Given the description of an element on the screen output the (x, y) to click on. 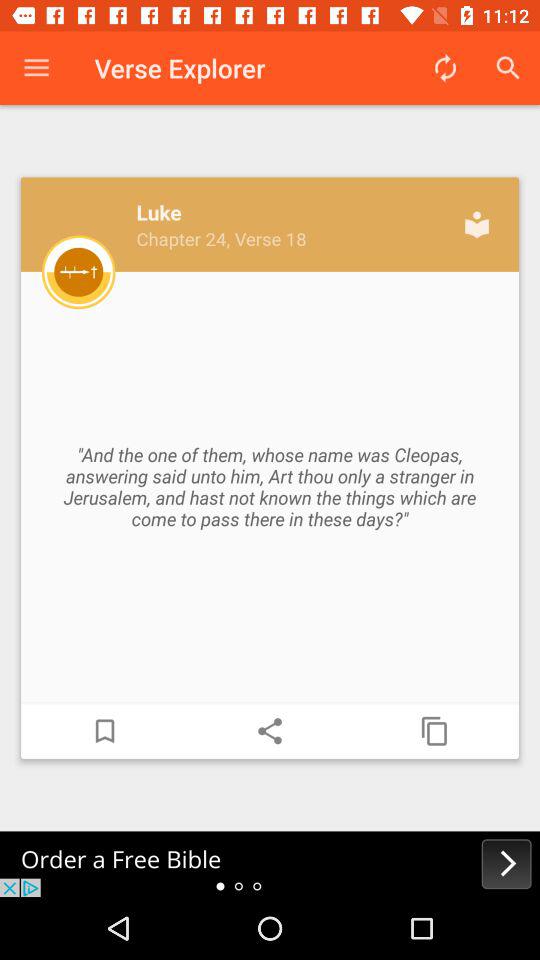
share quote (270, 731)
